Given the description of an element on the screen output the (x, y) to click on. 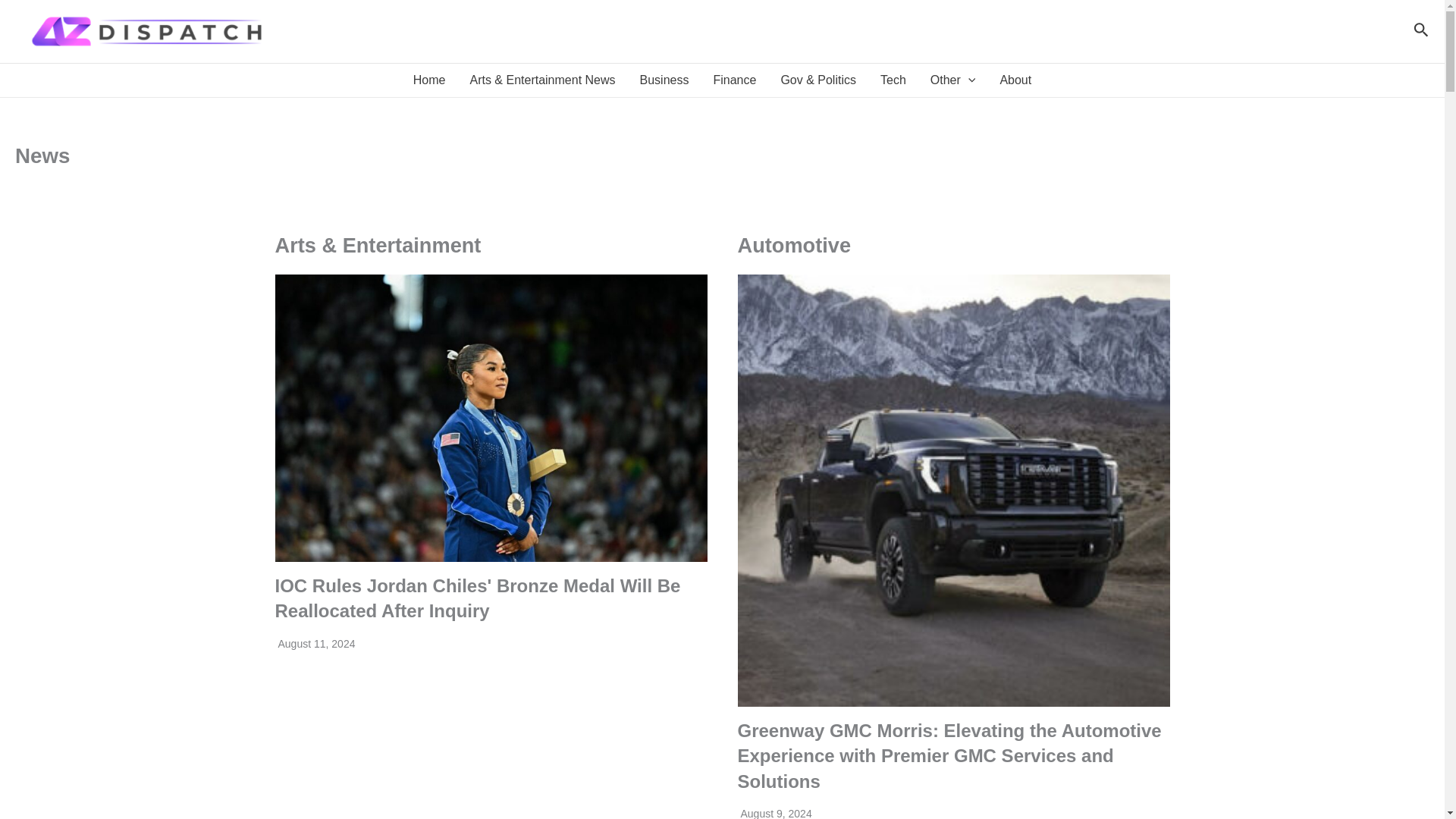
Business (664, 80)
Other (953, 80)
Home (429, 80)
Finance (734, 80)
Tech (892, 80)
About (1015, 80)
